Given the description of an element on the screen output the (x, y) to click on. 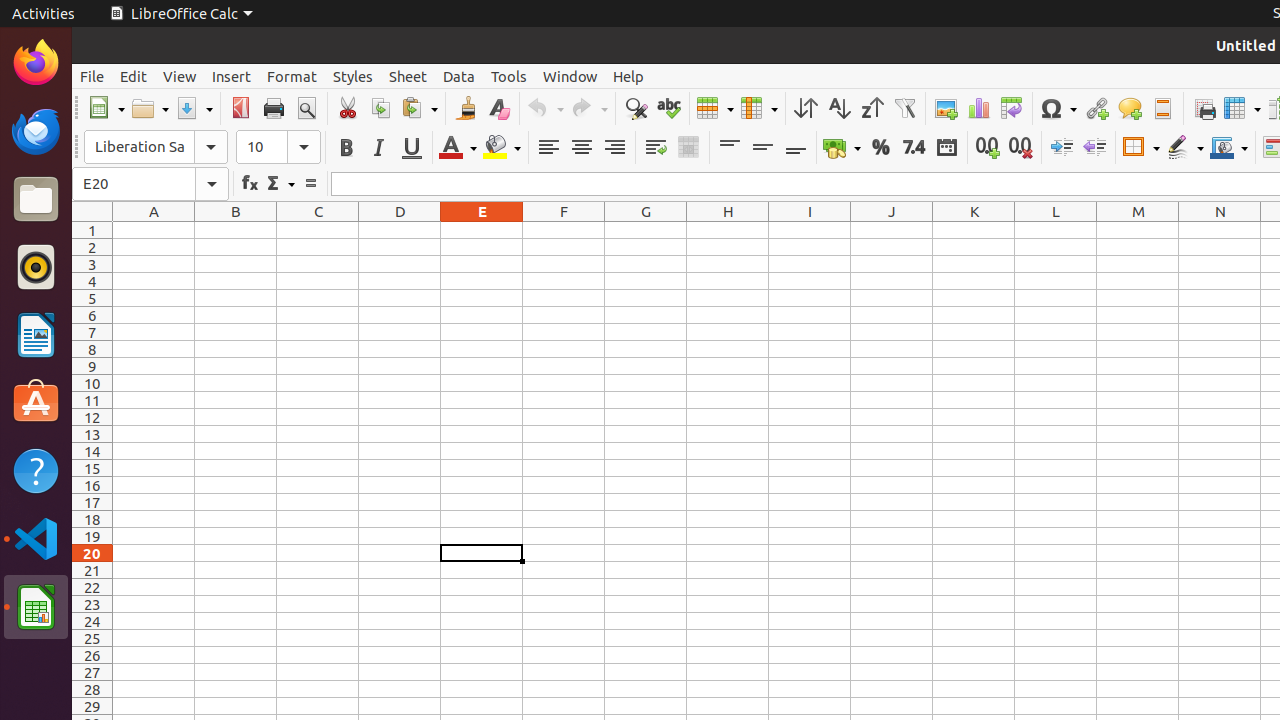
Find & Replace Element type: toggle-button (635, 108)
Font Name Element type: combo-box (156, 147)
Hyperlink Element type: toggle-button (1096, 108)
File Element type: menu (92, 76)
Currency Element type: push-button (842, 147)
